Given the description of an element on the screen output the (x, y) to click on. 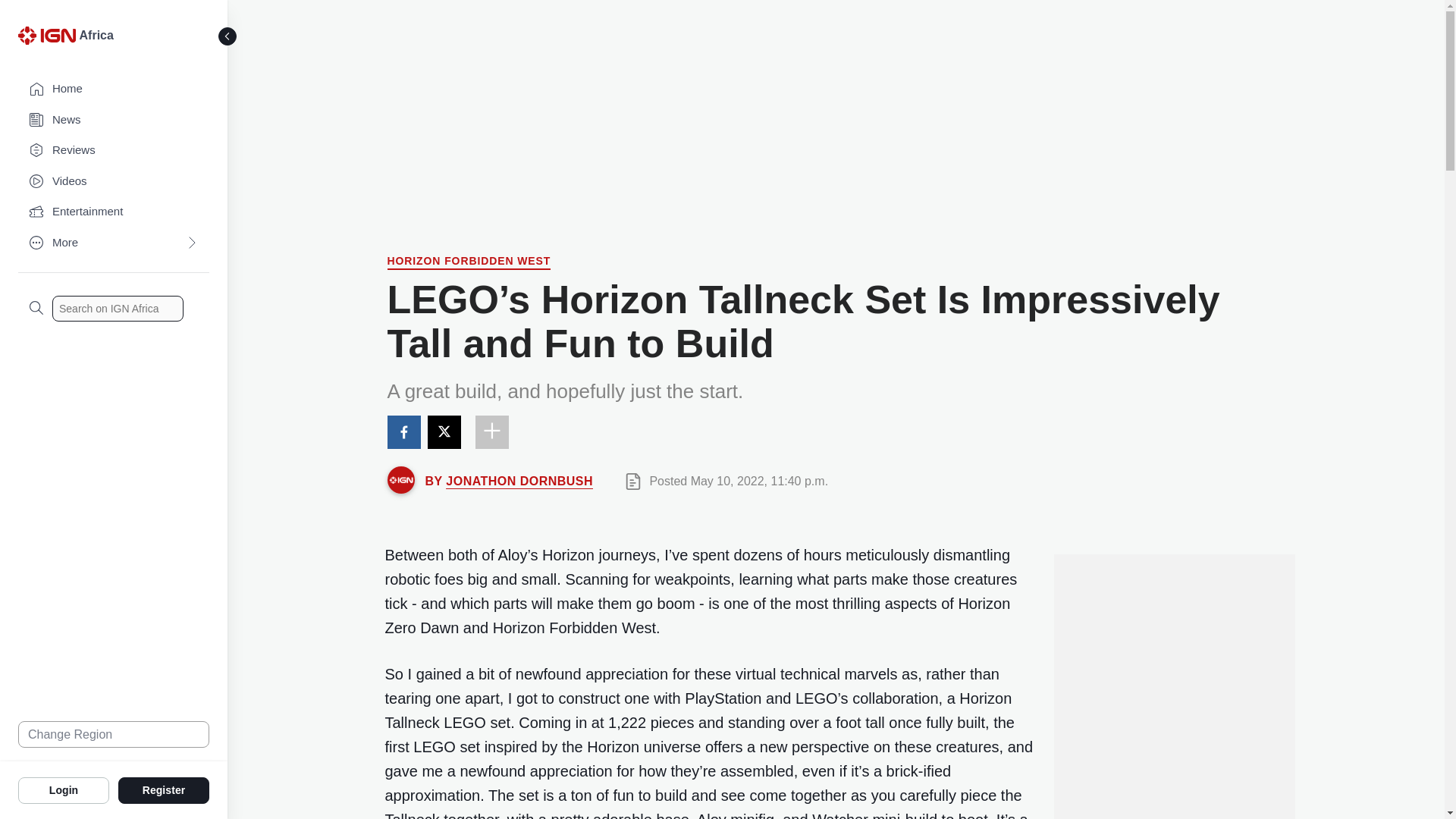
JONATHON DORNBUSH (518, 481)
Register (163, 789)
Home (113, 89)
Entertainment (113, 211)
Reviews (113, 150)
News (113, 119)
Horizon Forbidden West (468, 262)
3rd party ad content (835, 110)
Videos (113, 181)
More (113, 242)
IGN Logo (46, 34)
IGN Logo (48, 39)
Toggle Sidebar (226, 36)
Login (63, 789)
